Given the description of an element on the screen output the (x, y) to click on. 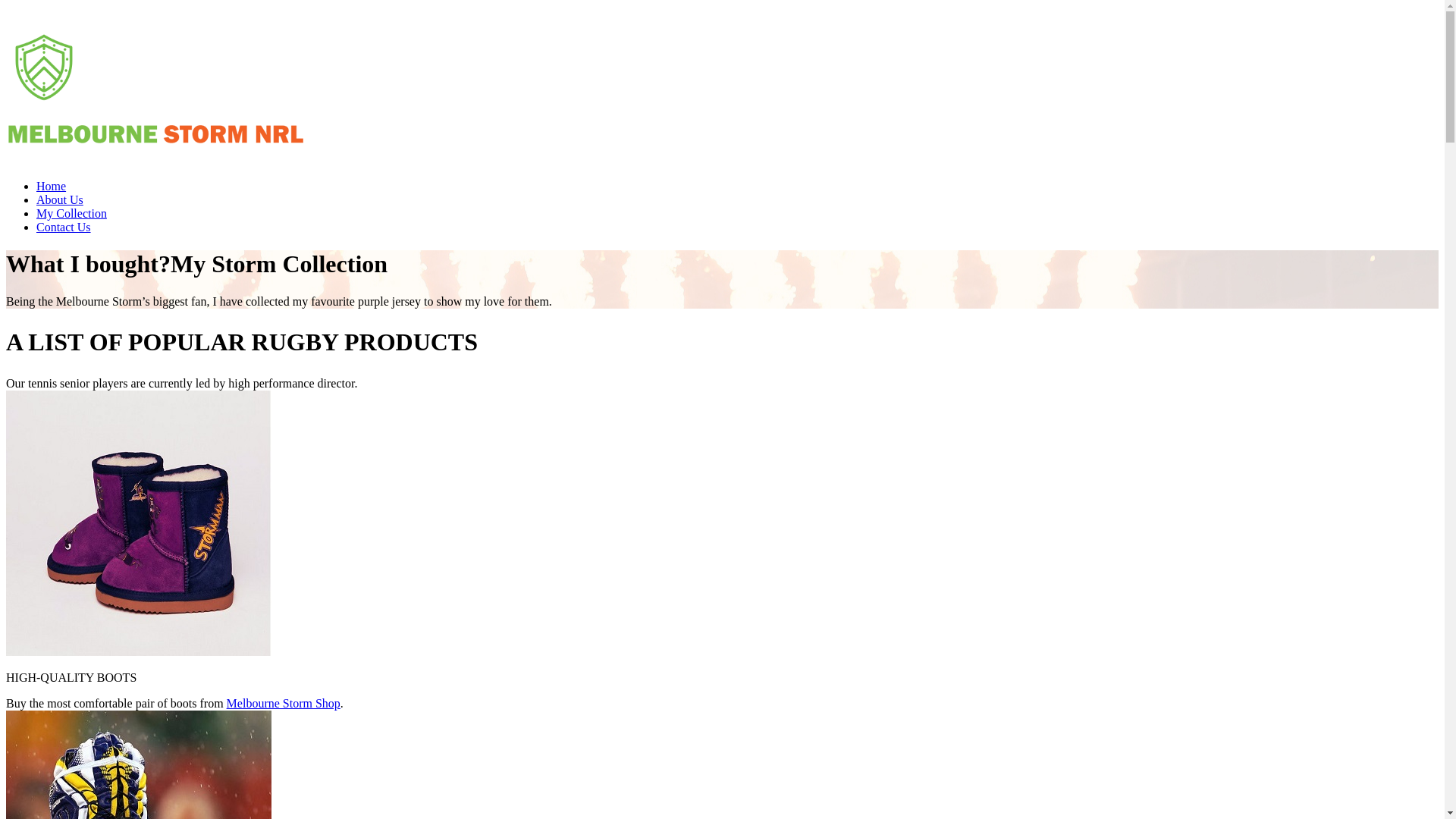
My Collection Element type: text (71, 213)
Melbourne Storm Shop Element type: text (283, 702)
Home Element type: text (50, 185)
About Us Element type: text (59, 199)
Contact Us Element type: text (63, 226)
